Given the description of an element on the screen output the (x, y) to click on. 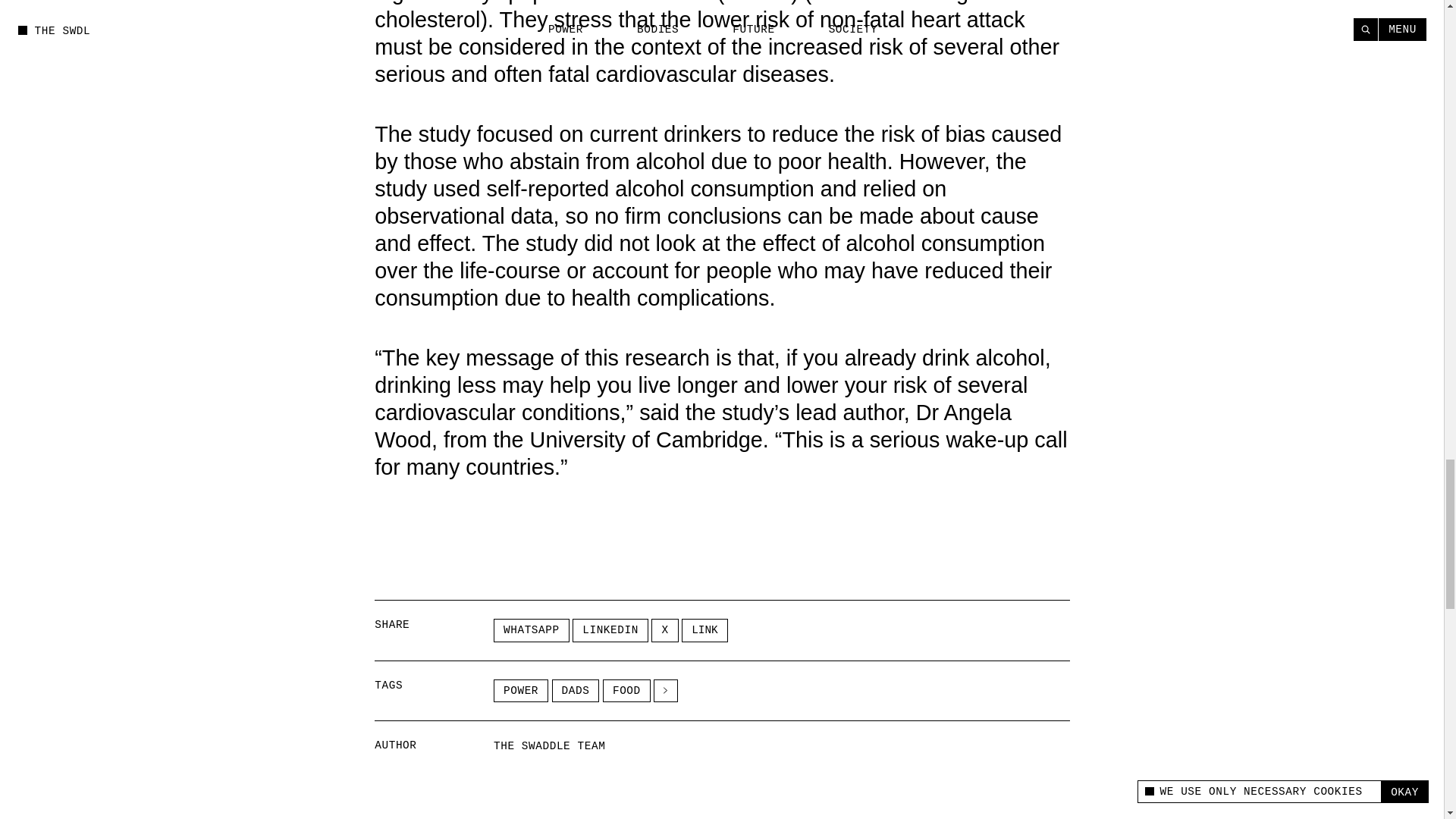
WHATSAPP (531, 630)
LINKEDIN (609, 630)
